Given the description of an element on the screen output the (x, y) to click on. 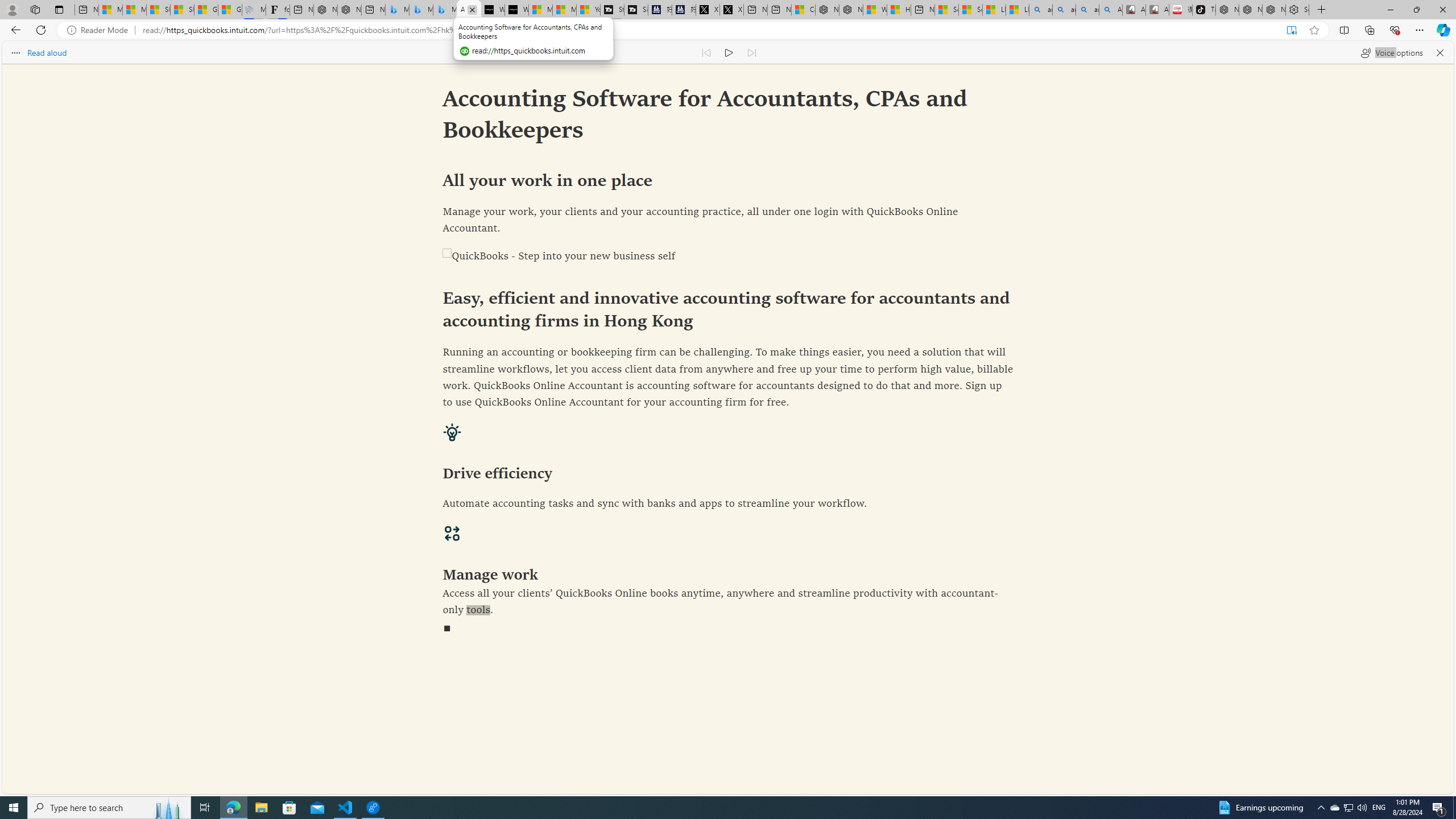
Continue to read aloud (Ctrl+Shift+U) (729, 52)
Accounting Software for Accountants, CPAs and Bookkeepers (469, 9)
QuickBooks - Step into your new business self (727, 256)
Nordace Siena Pro 15 Backpack (1250, 9)
